Given the description of an element on the screen output the (x, y) to click on. 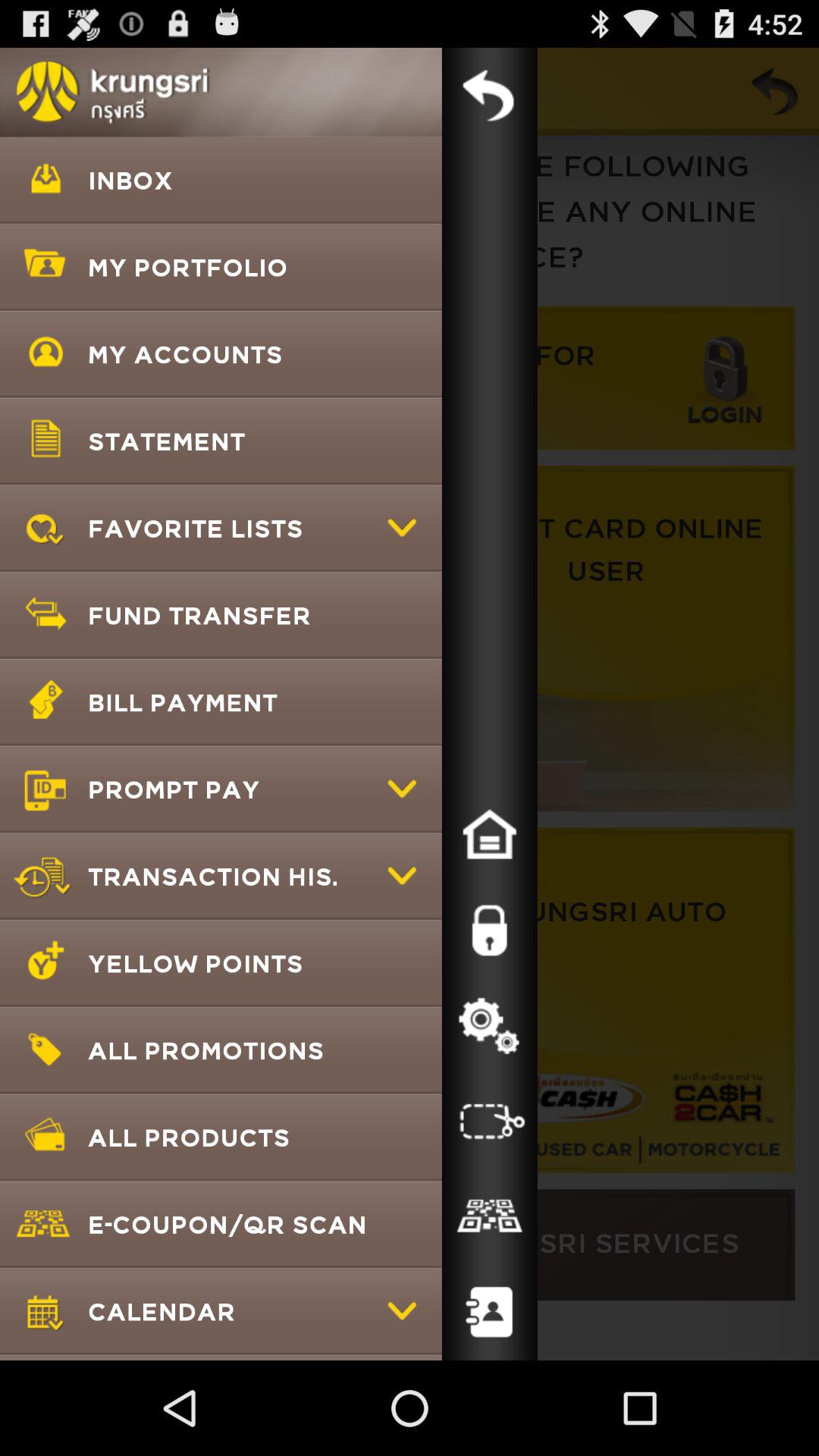
contacts list (489, 1312)
